Given the description of an element on the screen output the (x, y) to click on. 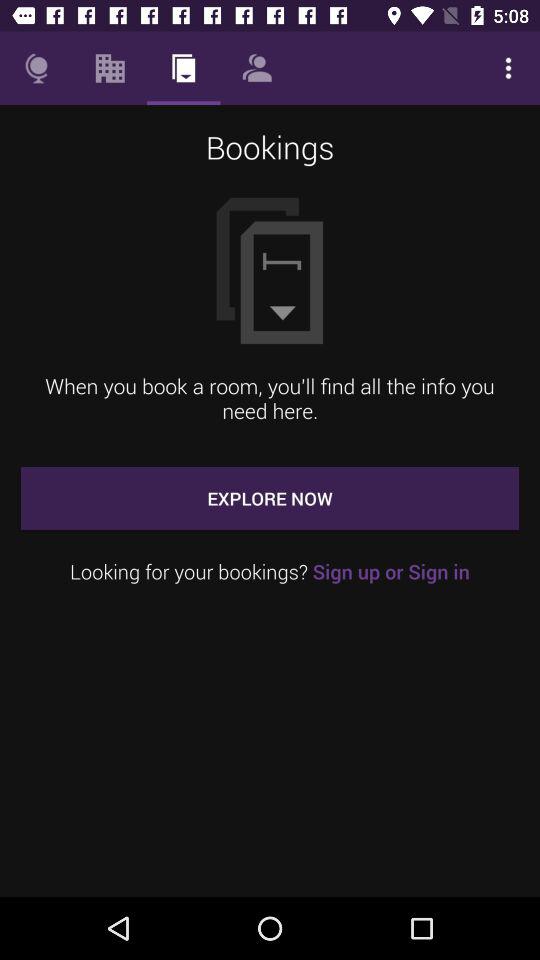
press looking for your icon (270, 571)
